Given the description of an element on the screen output the (x, y) to click on. 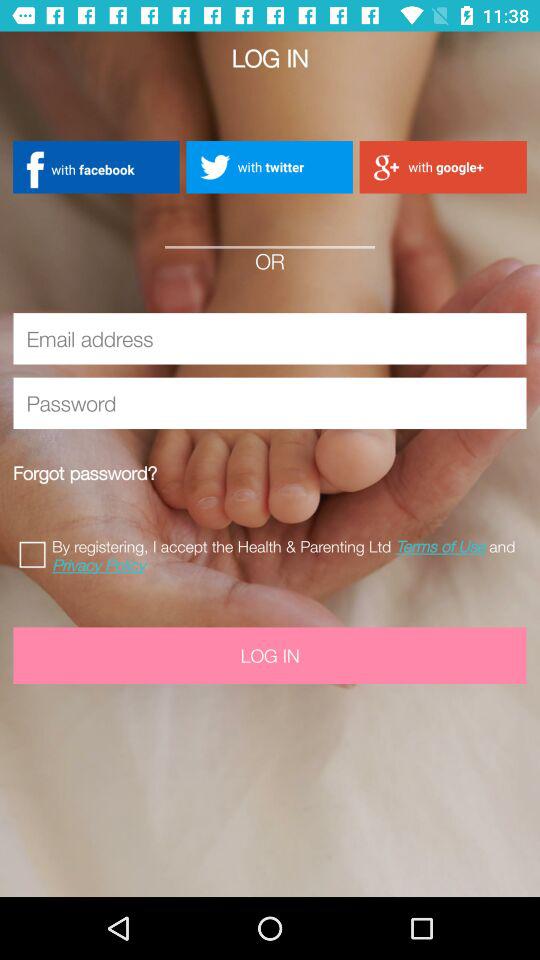
insert email (269, 338)
